Given the description of an element on the screen output the (x, y) to click on. 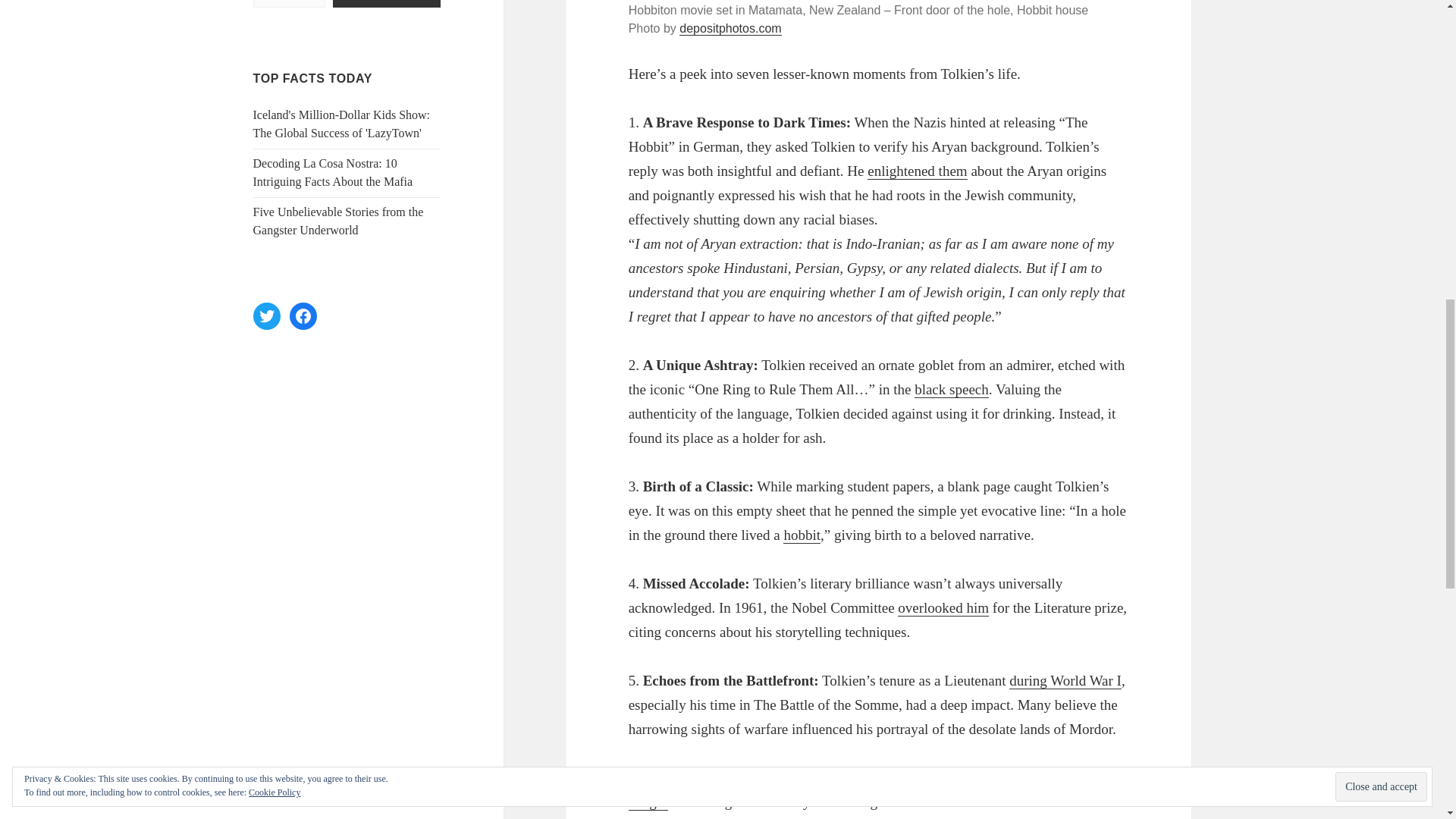
Please fill in this field. (288, 3)
